Given the description of an element on the screen output the (x, y) to click on. 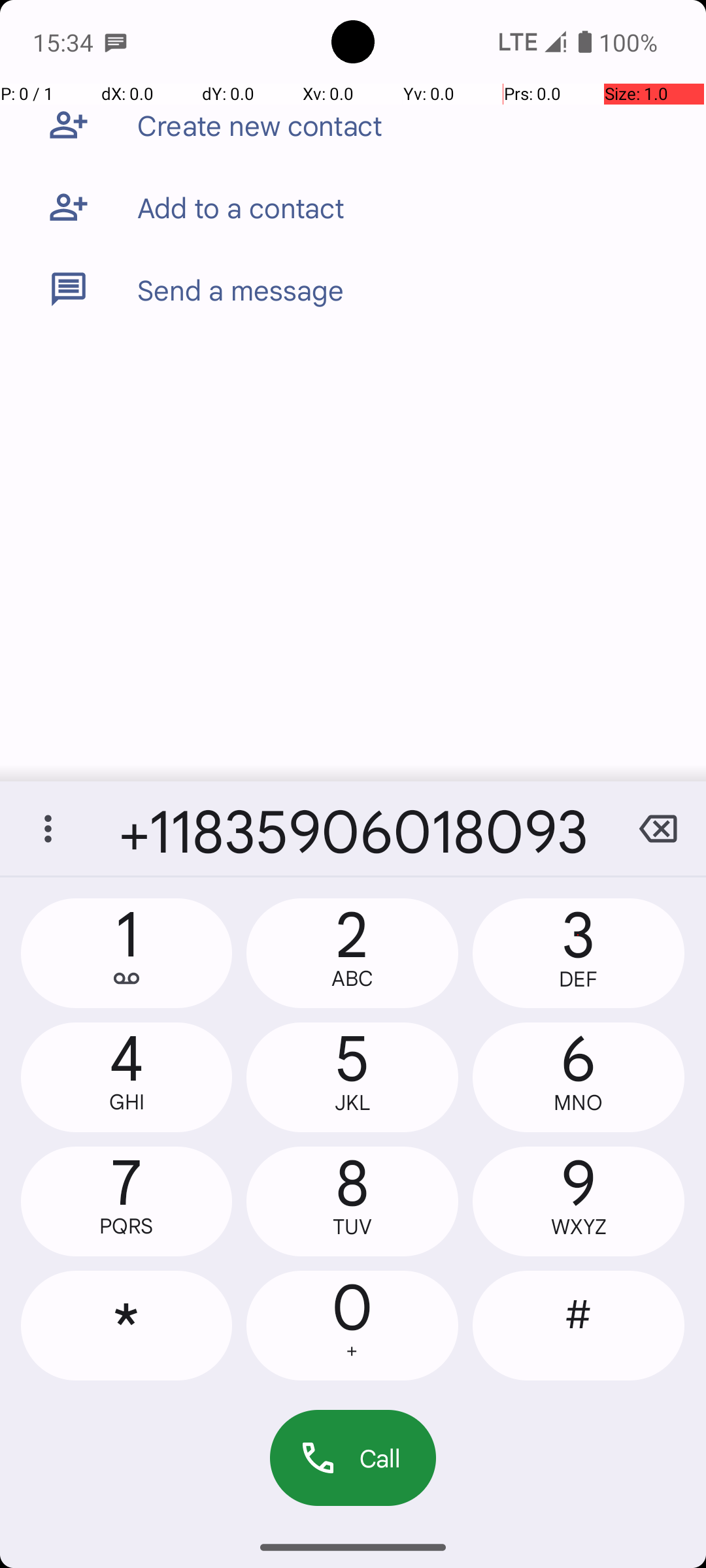
+11835906018093 Element type: android.widget.EditText (352, 828)
